Given the description of an element on the screen output the (x, y) to click on. 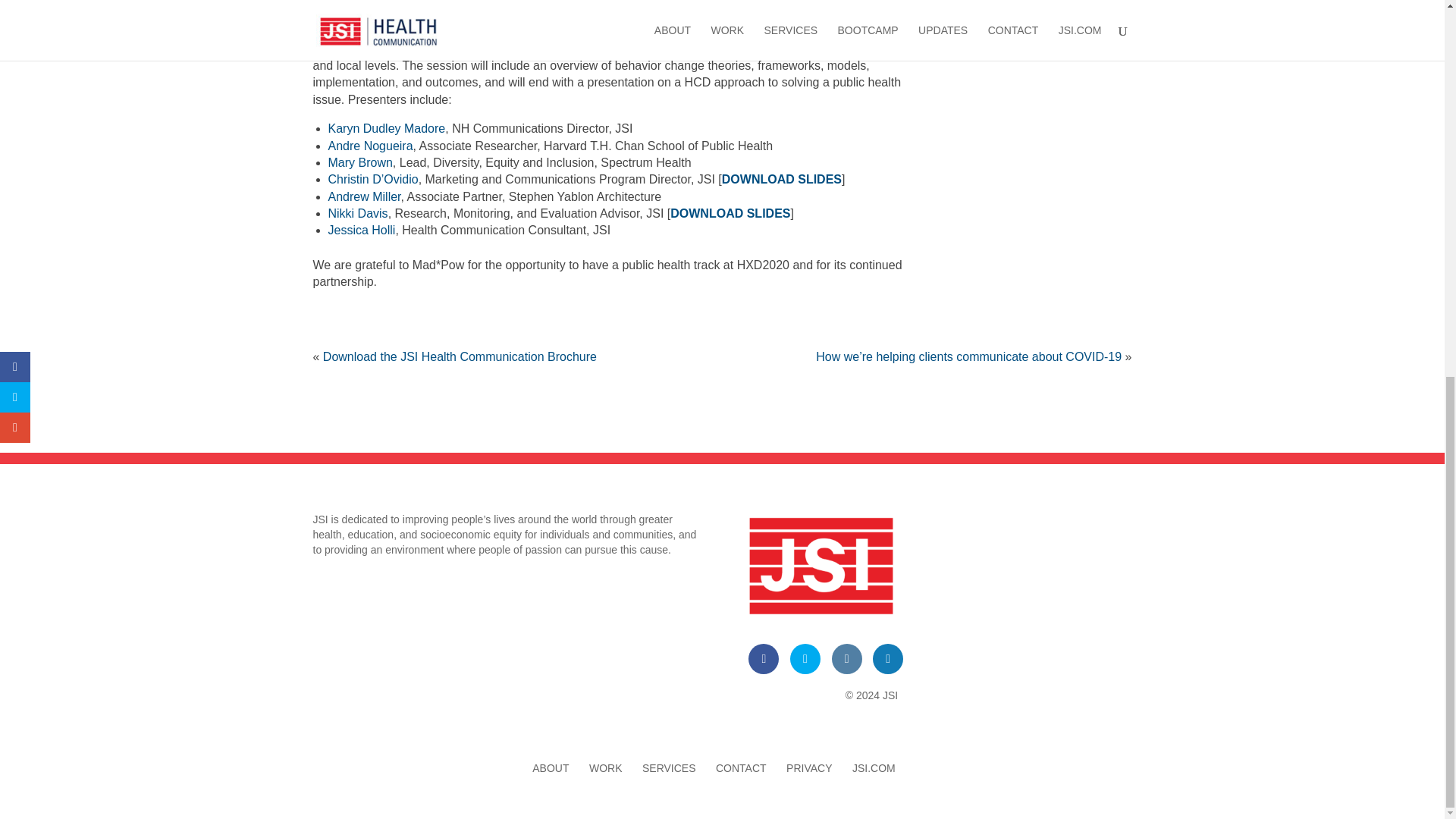
Karyn Dudley Madore (386, 128)
Andre Nogueira (369, 145)
Nikki Davis (357, 213)
Andrew Miller (363, 196)
ABOUT (550, 767)
Jessica Holli (360, 229)
Designing for Public Health (414, 48)
DOWNLOAD SLIDES (781, 178)
Mary Brown (359, 162)
DOWNLOAD SLIDES (729, 213)
